Given the description of an element on the screen output the (x, y) to click on. 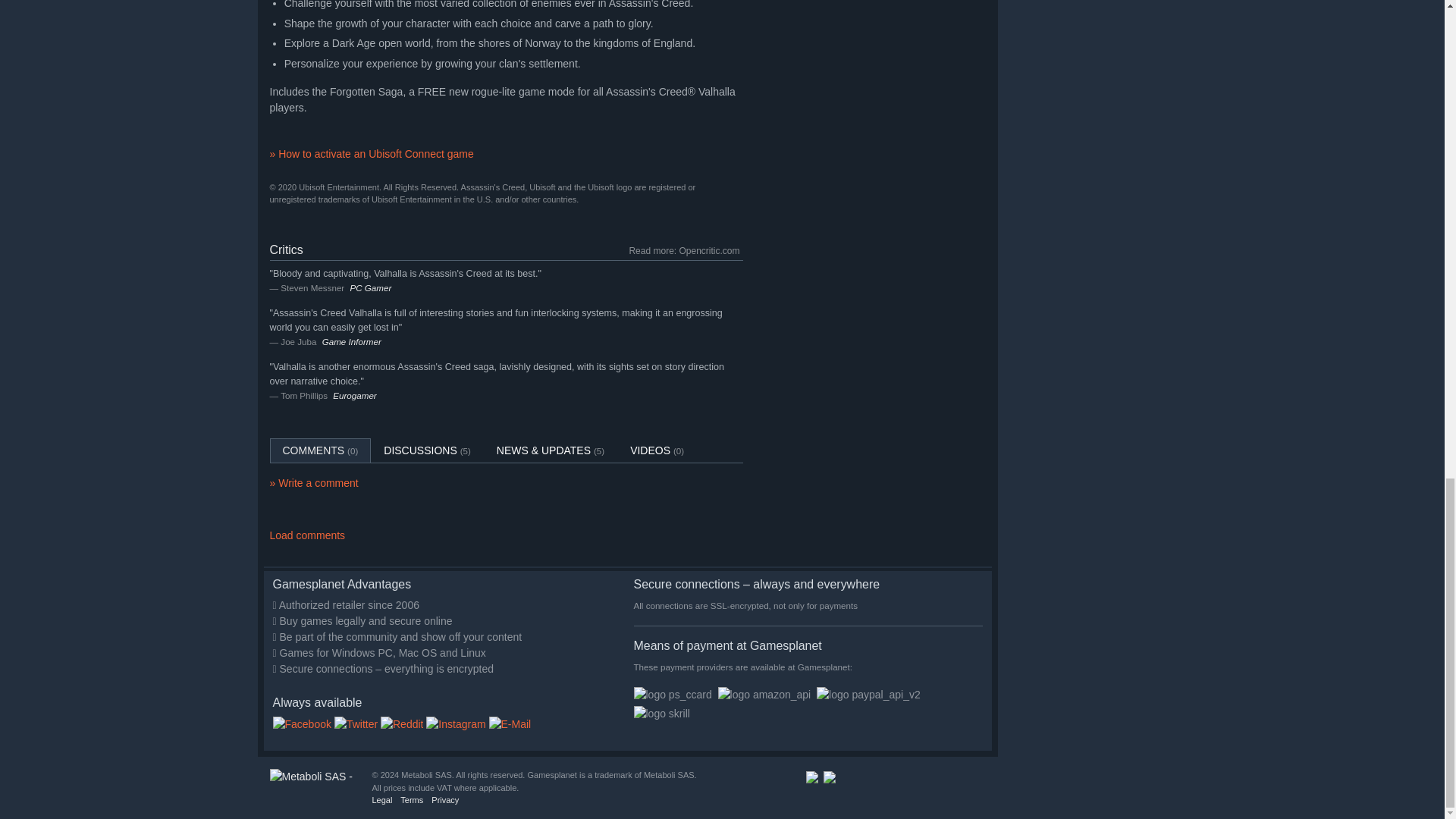
Eurogamer (354, 395)
translation missing: en-GB.community.tabs.videos (649, 450)
PC Gamer (370, 287)
Game Informer (351, 341)
